Given the description of an element on the screen output the (x, y) to click on. 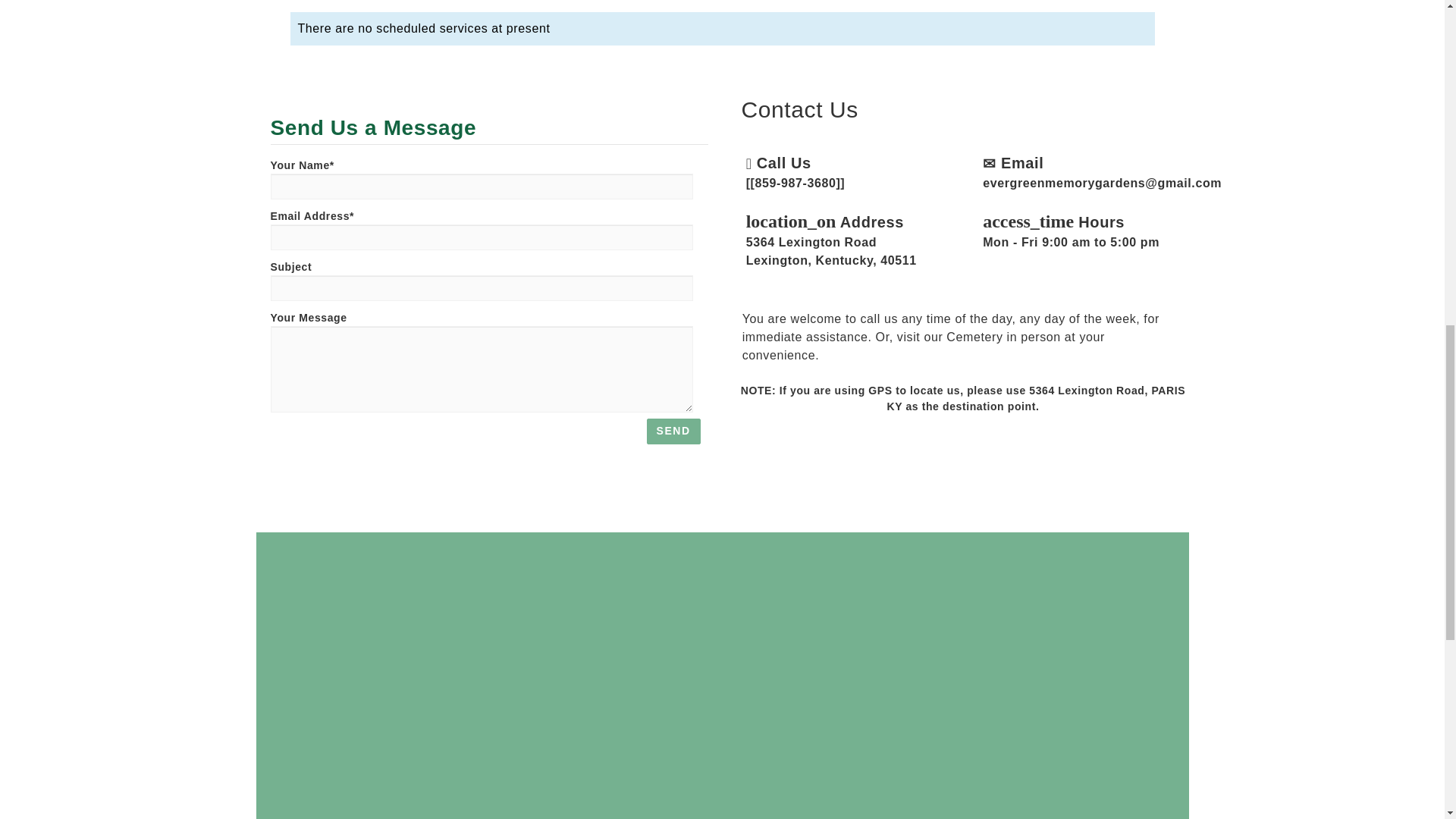
Send Flowers (750, 445)
Contact Us (778, 445)
SEND (673, 431)
